Given the description of an element on the screen output the (x, y) to click on. 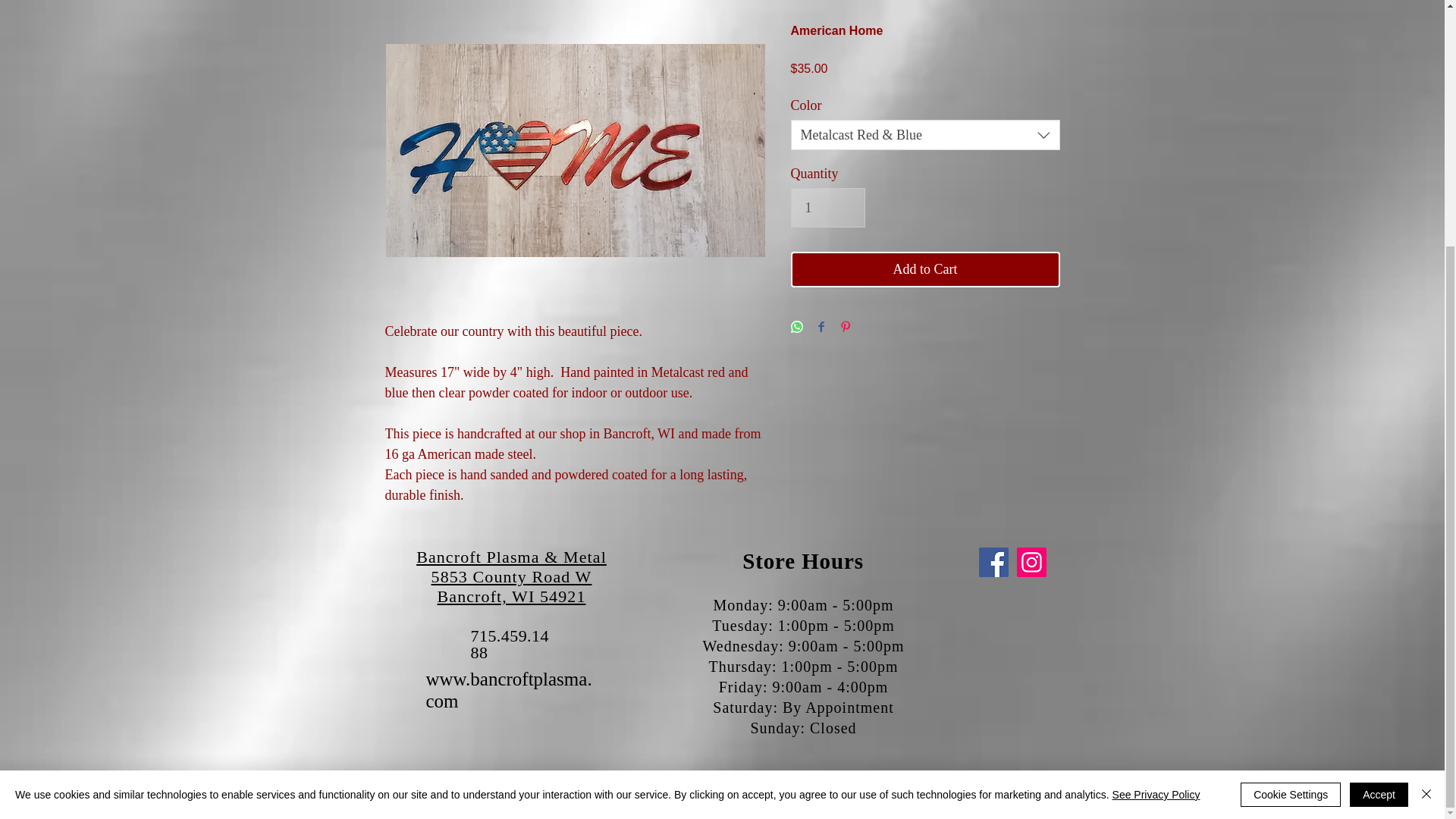
Cookie Settings (1290, 451)
Add to Cart (924, 269)
Frequently Ask Questions (466, 786)
Accept (1378, 451)
www.bancroftplasma.com (509, 690)
Privacy Policy (381, 786)
See Privacy Policy (1155, 451)
1 (827, 207)
